Given the description of an element on the screen output the (x, y) to click on. 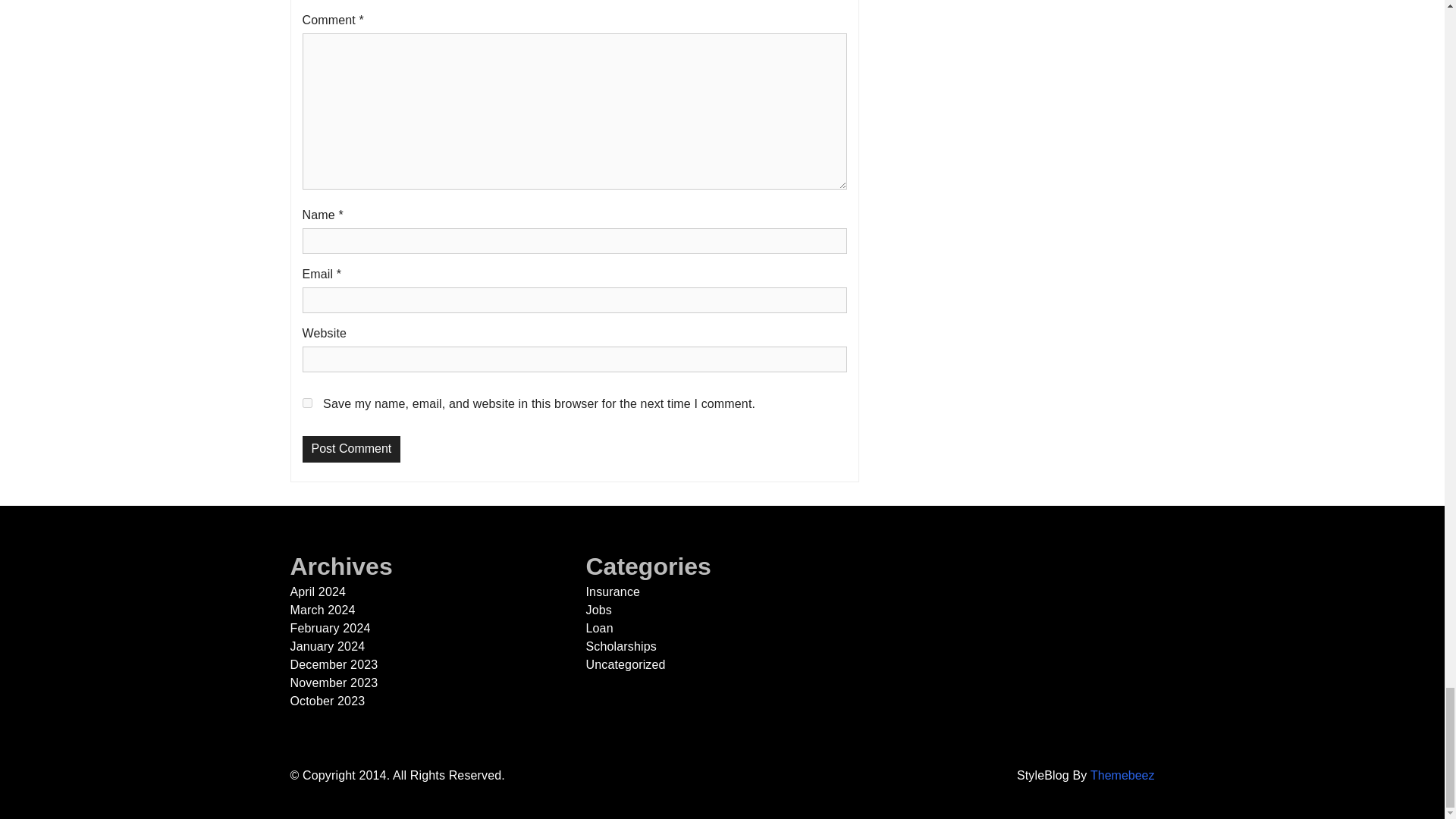
Post Comment (350, 448)
yes (306, 402)
Post Comment (350, 448)
